Given the description of an element on the screen output the (x, y) to click on. 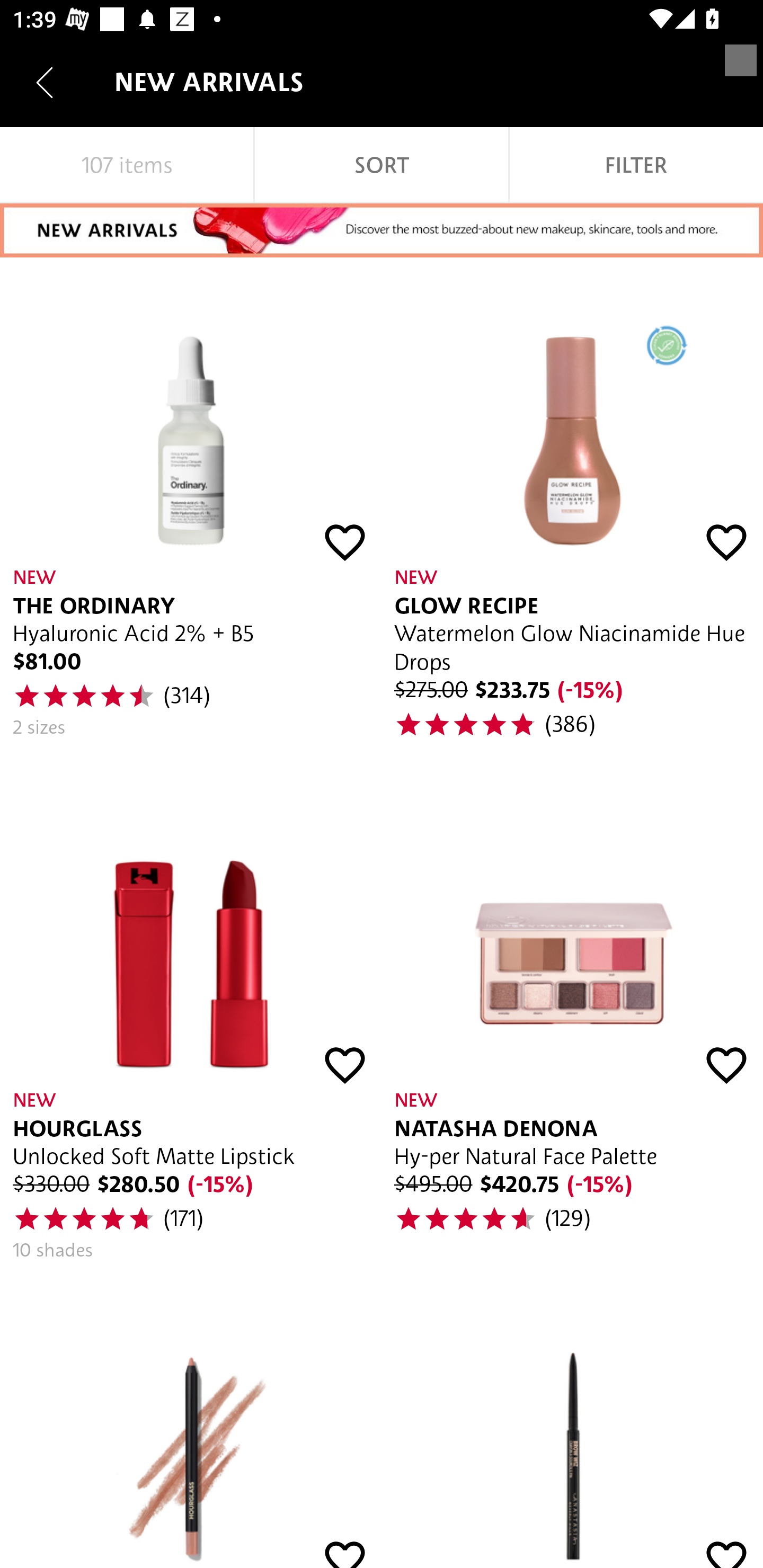
Navigate up (44, 82)
SORT (381, 165)
FILTER (636, 165)
